Given the description of an element on the screen output the (x, y) to click on. 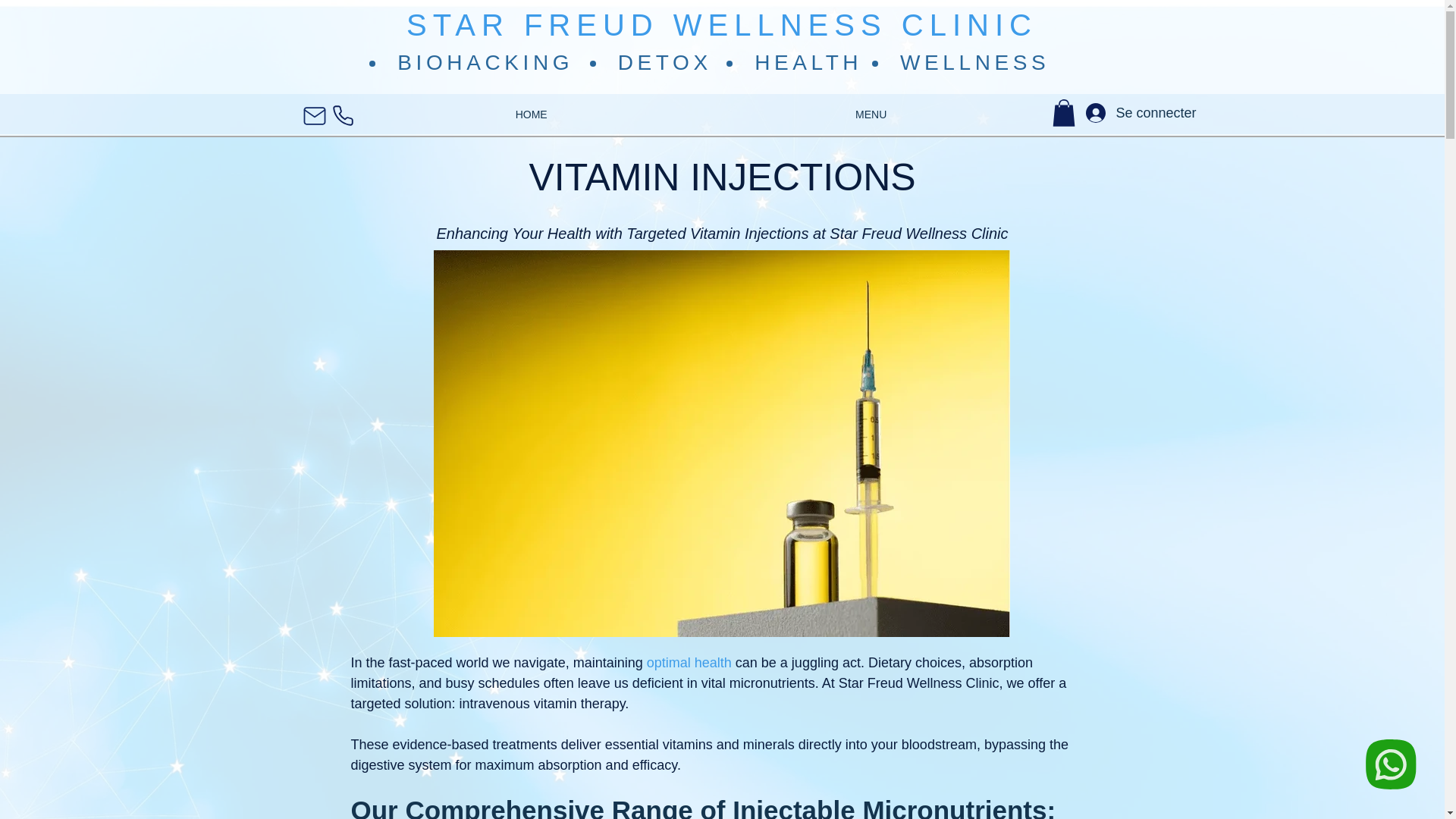
DETOX (664, 62)
HOME (530, 114)
BIOHACKING (485, 62)
Se connecter (1116, 112)
WELLNESS (974, 62)
optimal health (689, 662)
HEALTH (807, 62)
MENU (871, 114)
STAR FREUD WELLNESS CLINIC (721, 24)
